Given the description of an element on the screen output the (x, y) to click on. 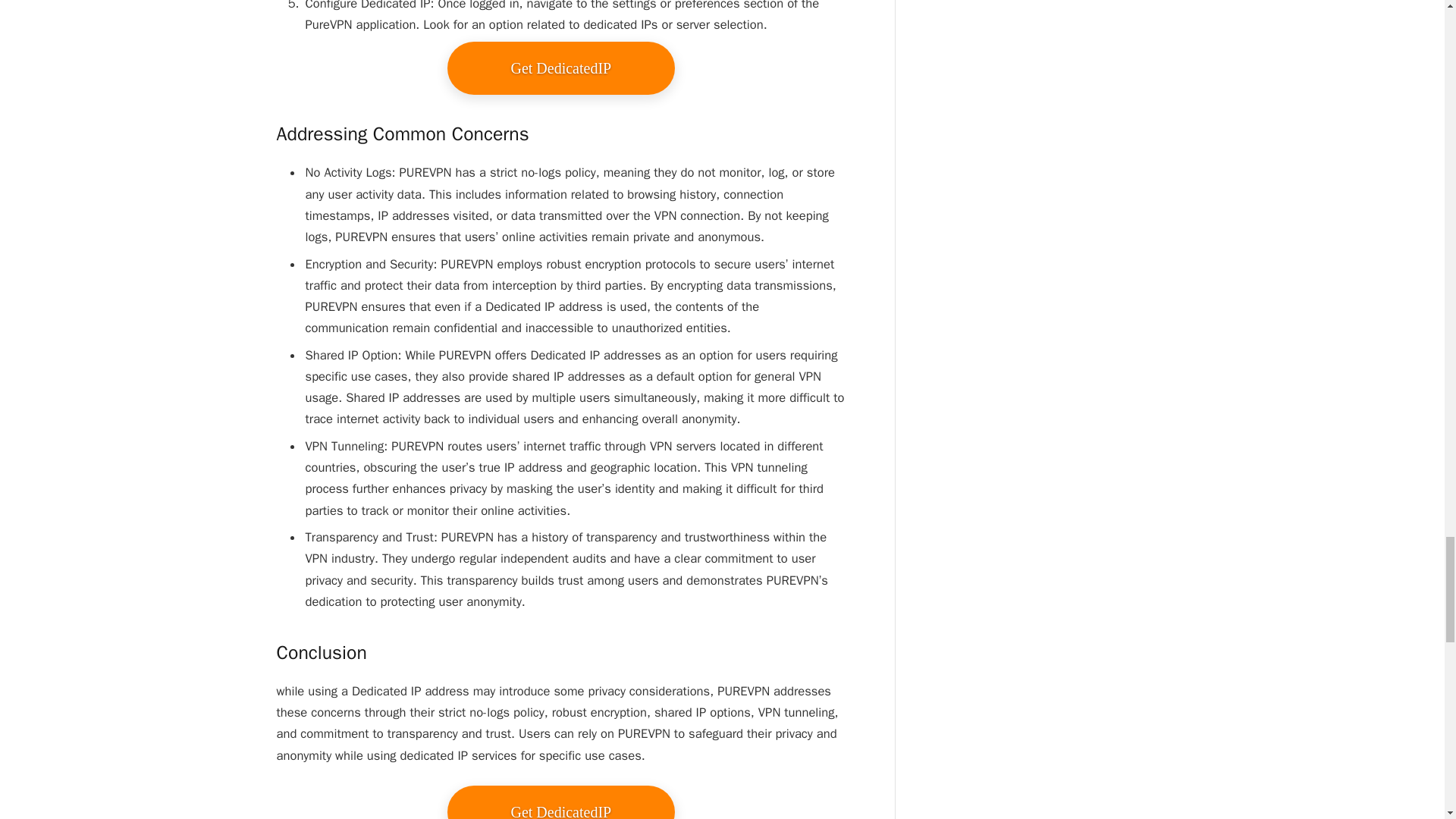
Get DedicatedIP (560, 68)
Get DedicatedIP (560, 802)
